Given the description of an element on the screen output the (x, y) to click on. 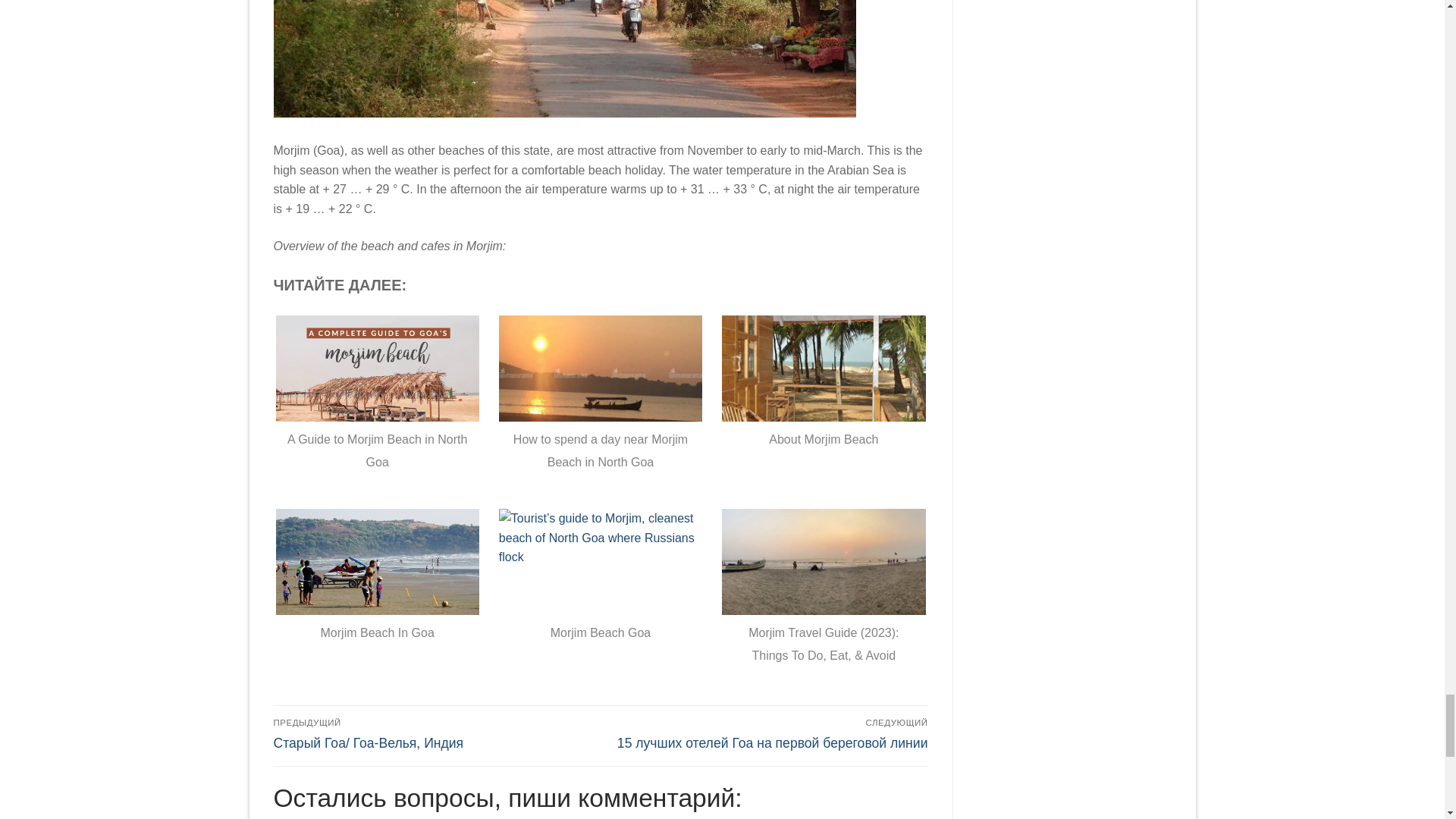
Morjim Beach Goa (600, 597)
A Guide to Morjim Beach in North Goa (377, 404)
About Morjim Beach (823, 404)
Morjim Beach In Goa (377, 597)
How to spend a day near Morjim Beach in North Goa (600, 404)
